Given the description of an element on the screen output the (x, y) to click on. 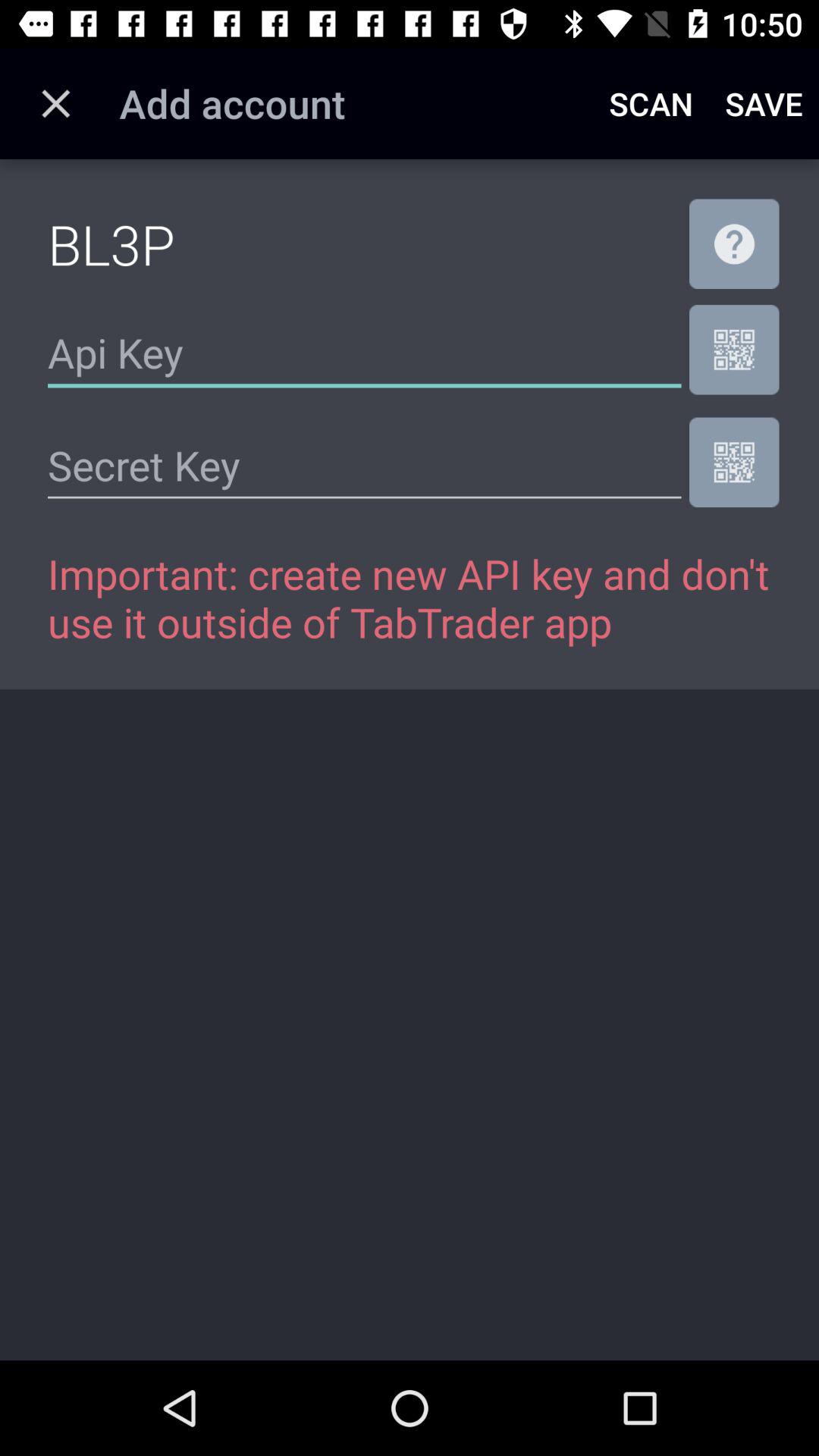
launch the icon to the left of add account app (55, 103)
